Given the description of an element on the screen output the (x, y) to click on. 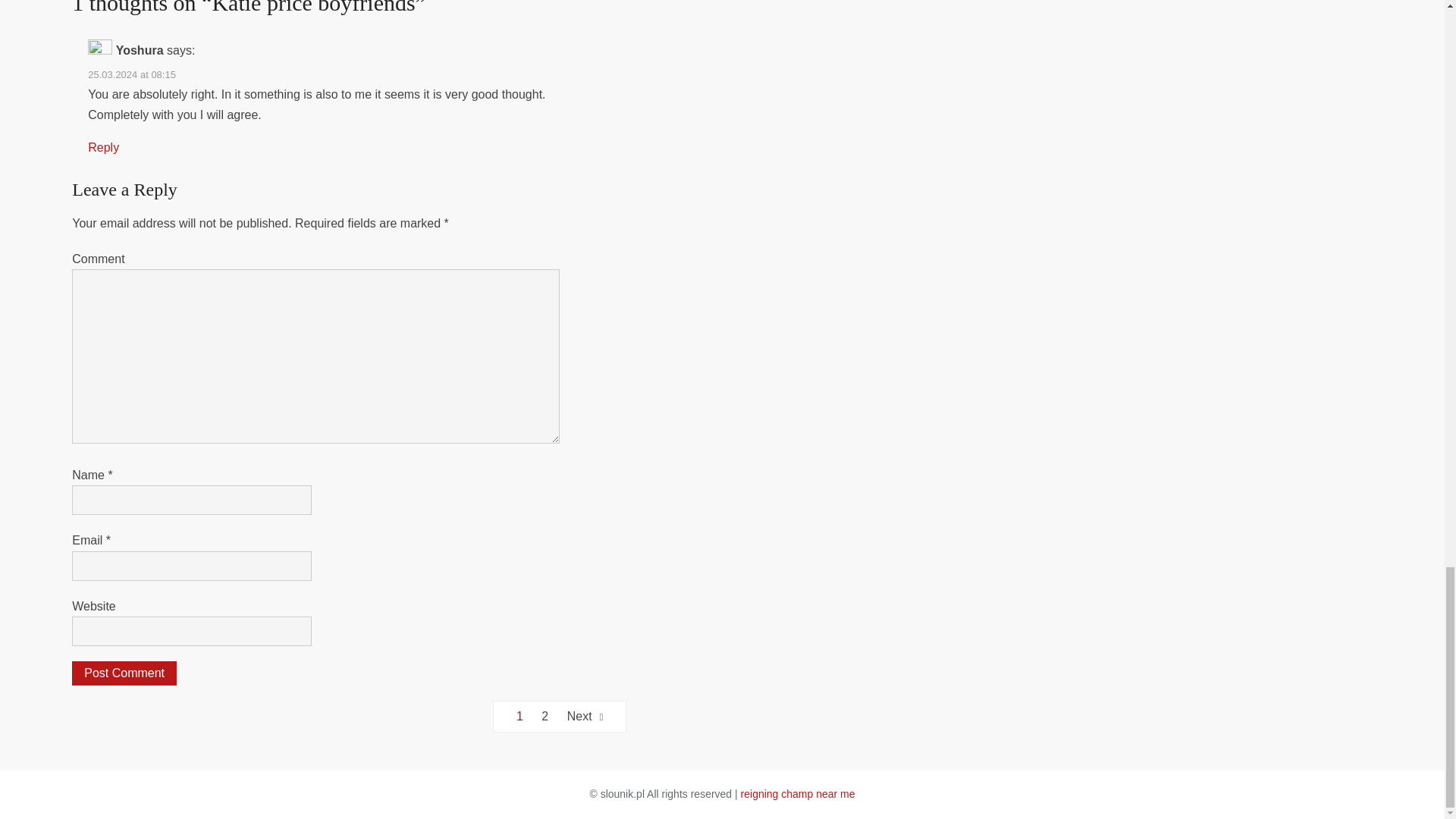
Reply (103, 146)
Post Comment (123, 672)
25.03.2024 at 08:15 (131, 74)
Next (585, 716)
Post Comment (123, 672)
reigning champ near me (798, 793)
2 (545, 716)
